Given the description of an element on the screen output the (x, y) to click on. 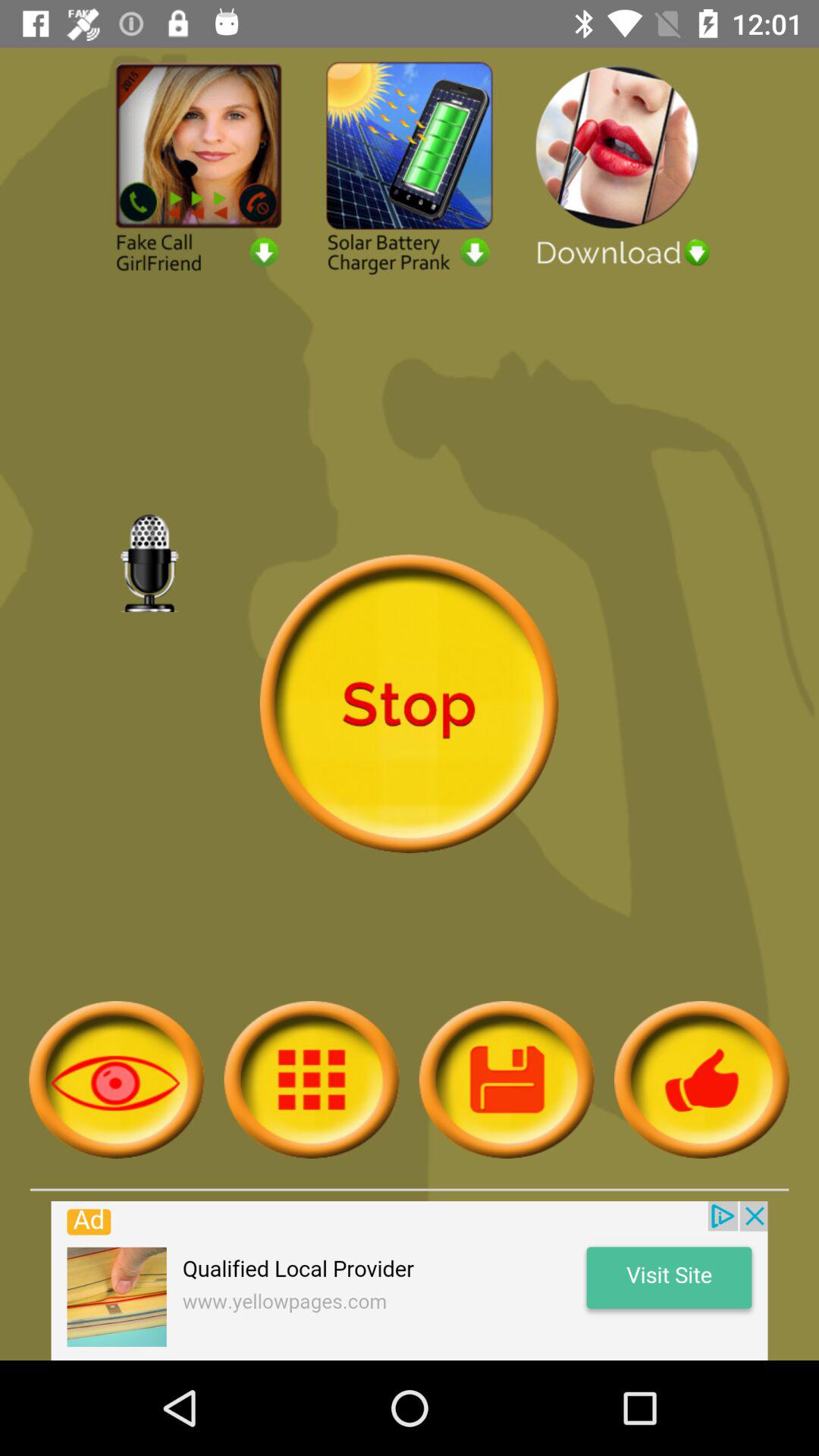
access menu (311, 1079)
